Given the description of an element on the screen output the (x, y) to click on. 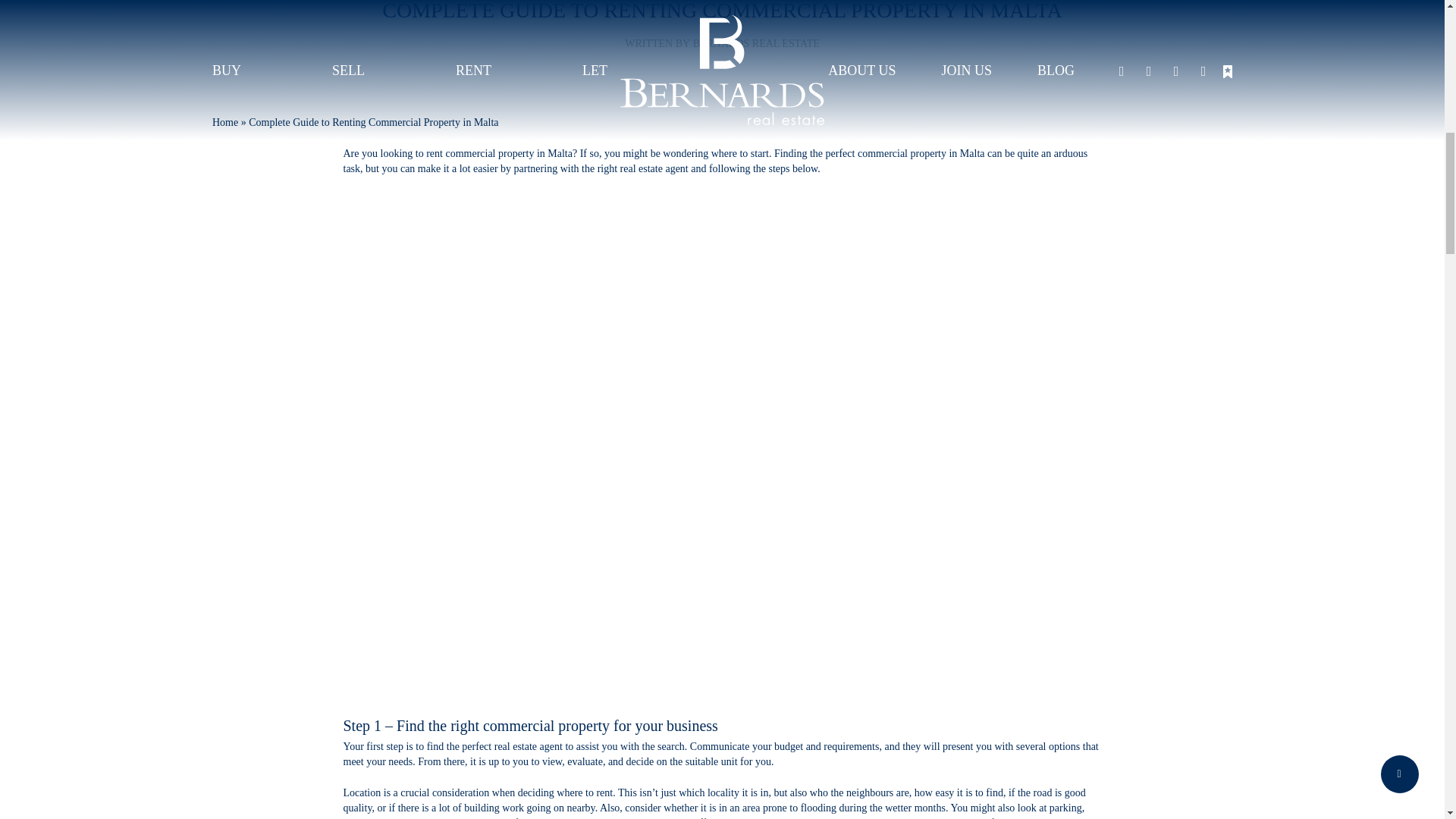
Home (225, 122)
BERNARDS REAL ESTATE (756, 43)
Posts by Bernards Real Estate (756, 43)
